Given the description of an element on the screen output the (x, y) to click on. 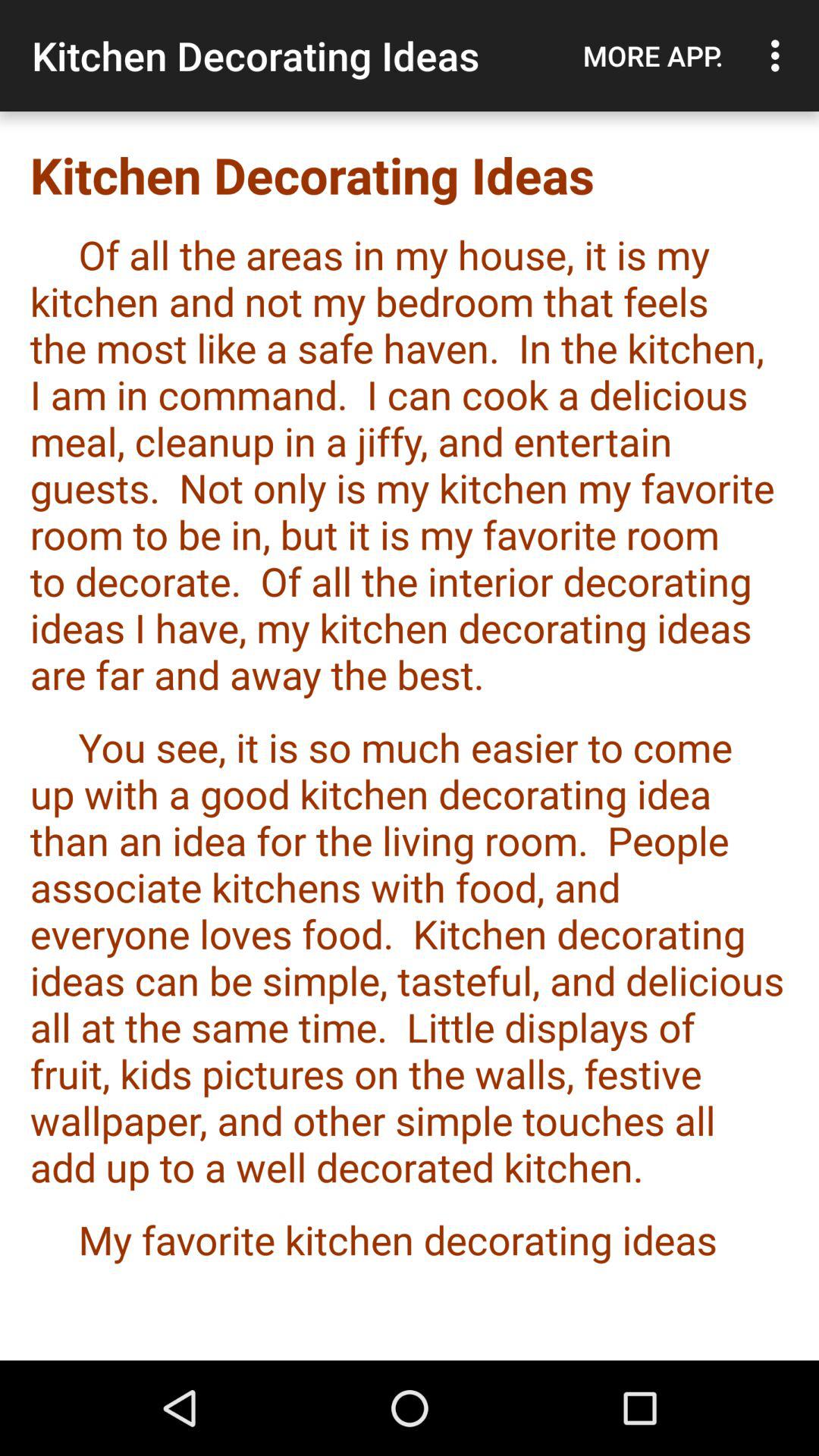
open the item next to more app. icon (779, 55)
